Given the description of an element on the screen output the (x, y) to click on. 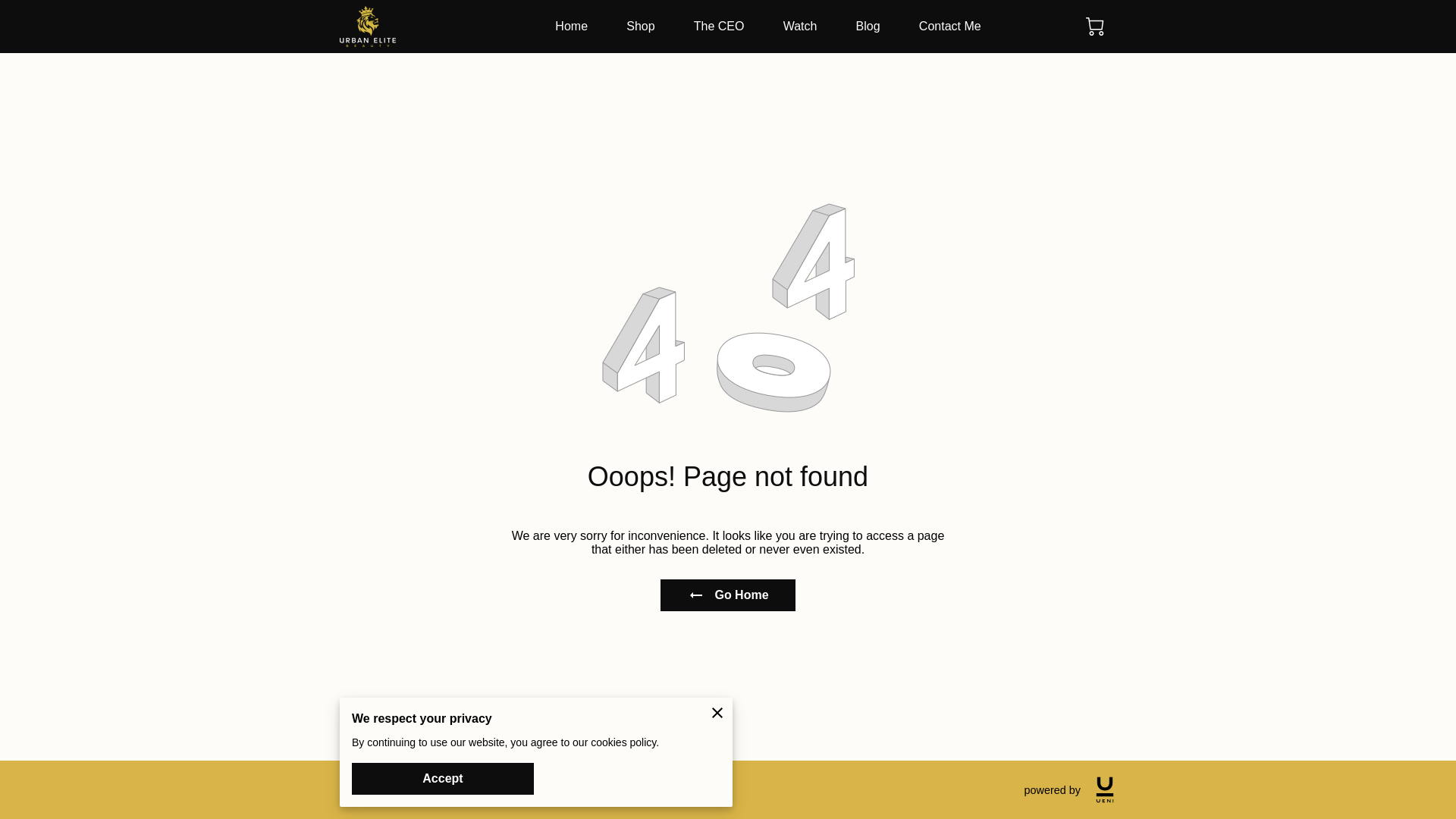
Home (571, 26)
0 (1094, 26)
Shop (639, 26)
Contact Me (949, 26)
Legal Notice (465, 789)
Watch (799, 26)
Merchant Policies (377, 789)
Go Home (727, 594)
The CEO (719, 26)
Accept (443, 778)
Blog (868, 26)
